Given the description of an element on the screen output the (x, y) to click on. 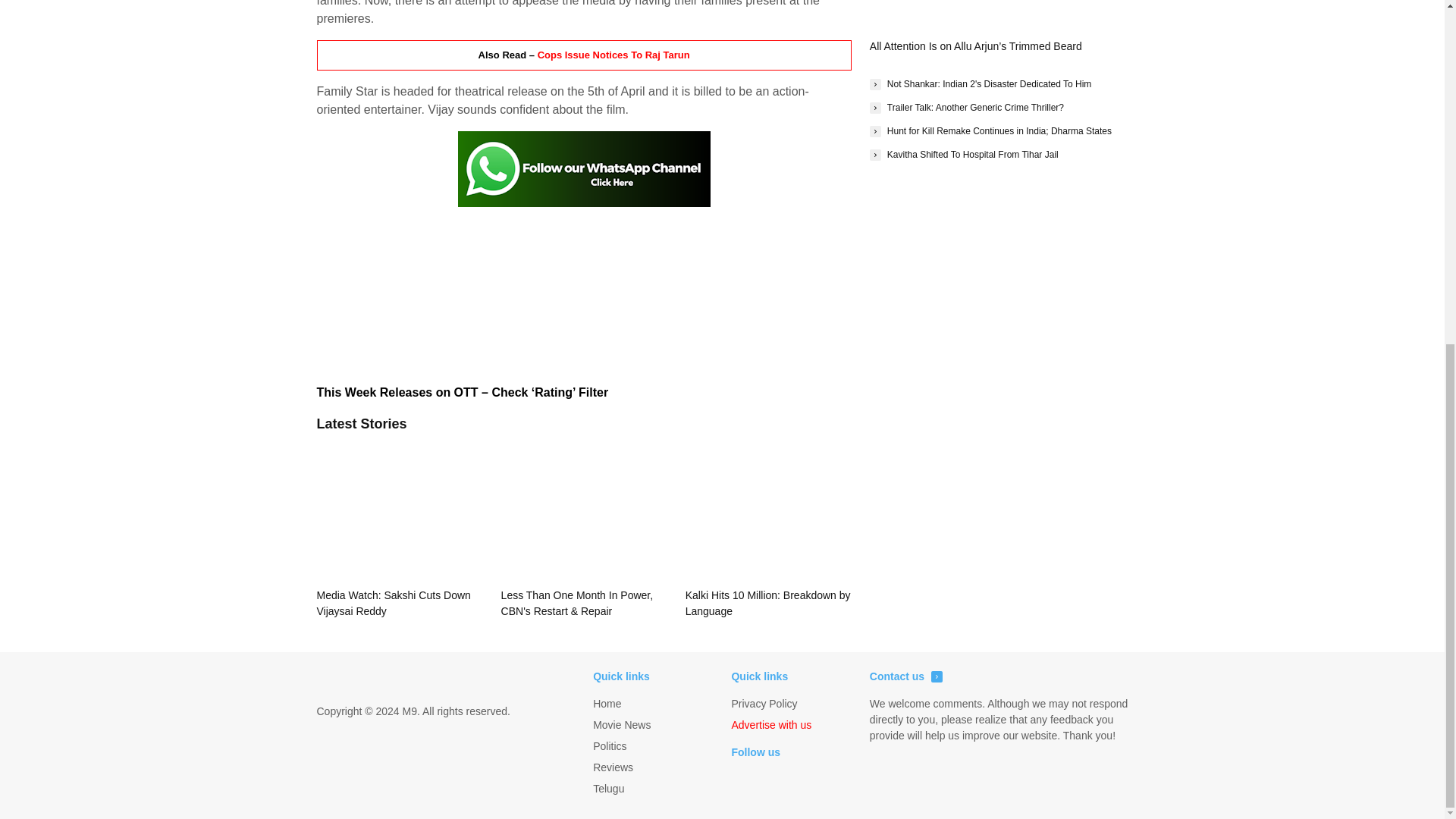
Kalki Hits 10 Million: Breakdown by Language (768, 529)
Media Watch: Sakshi Cuts Down Vijaysai Reddy (400, 529)
